Given the description of an element on the screen output the (x, y) to click on. 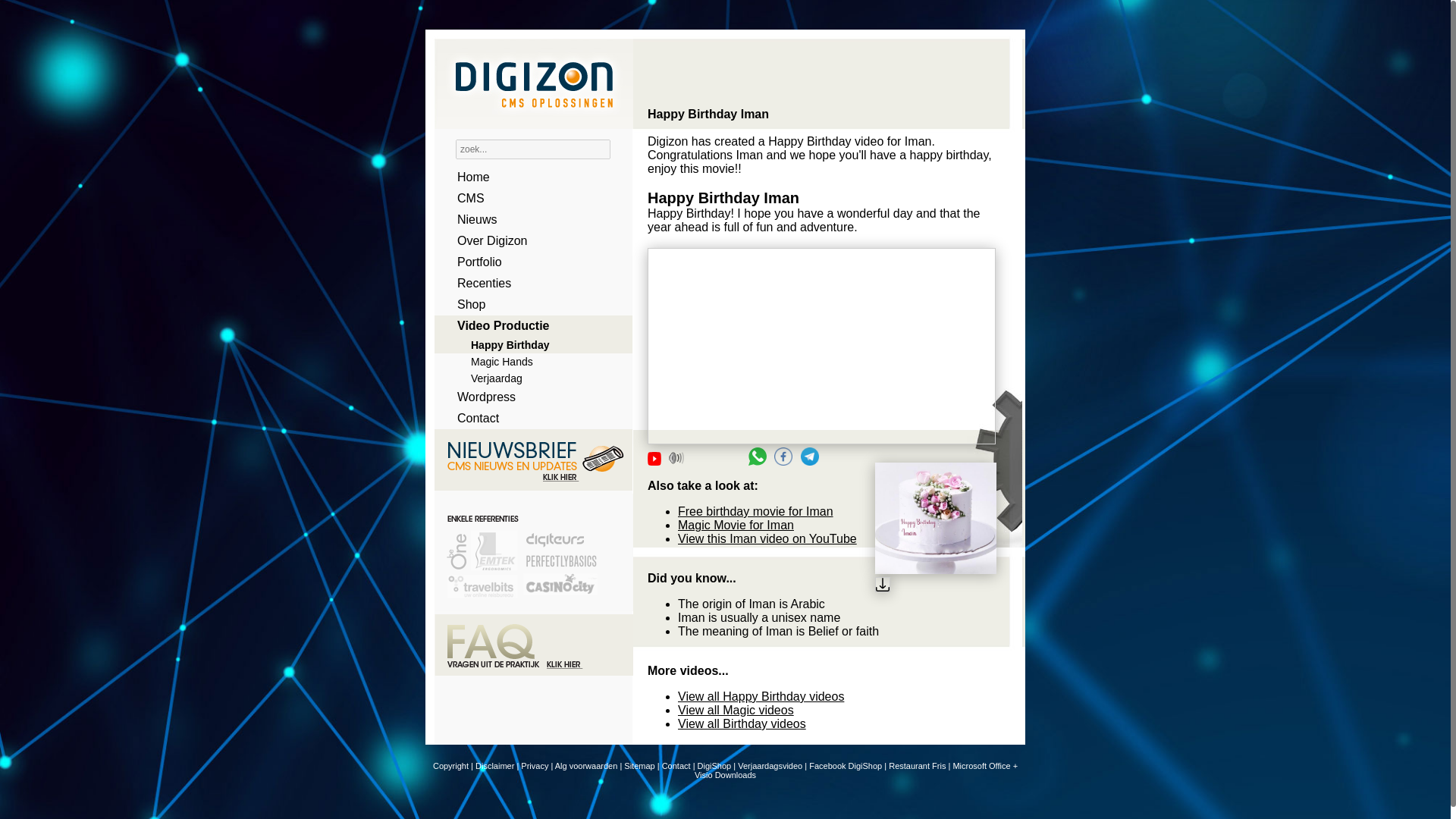
View on Youtube (654, 459)
Disclaimer (494, 765)
Restaurant Fris (916, 765)
Copyright (450, 765)
Download (935, 586)
Portfolio (528, 261)
Magic Hands (528, 361)
Over Digizon (528, 240)
DigiShop (714, 765)
Restaurant Fris (916, 765)
Recenties (528, 283)
Wordpress (528, 396)
Sitemap (638, 765)
View all Magic videos (735, 709)
Happy Birthday Iman (821, 346)
